Given the description of an element on the screen output the (x, y) to click on. 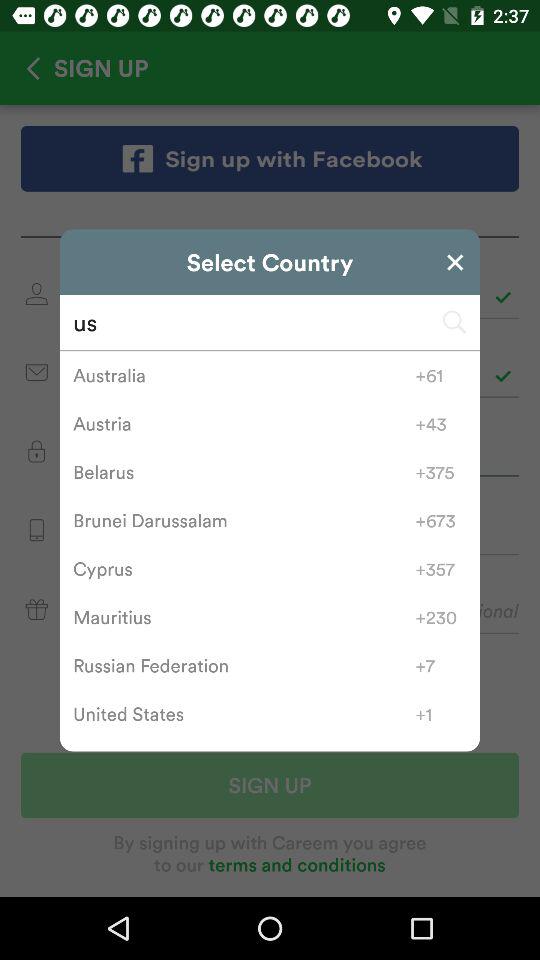
scroll to us icon (270, 322)
